Given the description of an element on the screen output the (x, y) to click on. 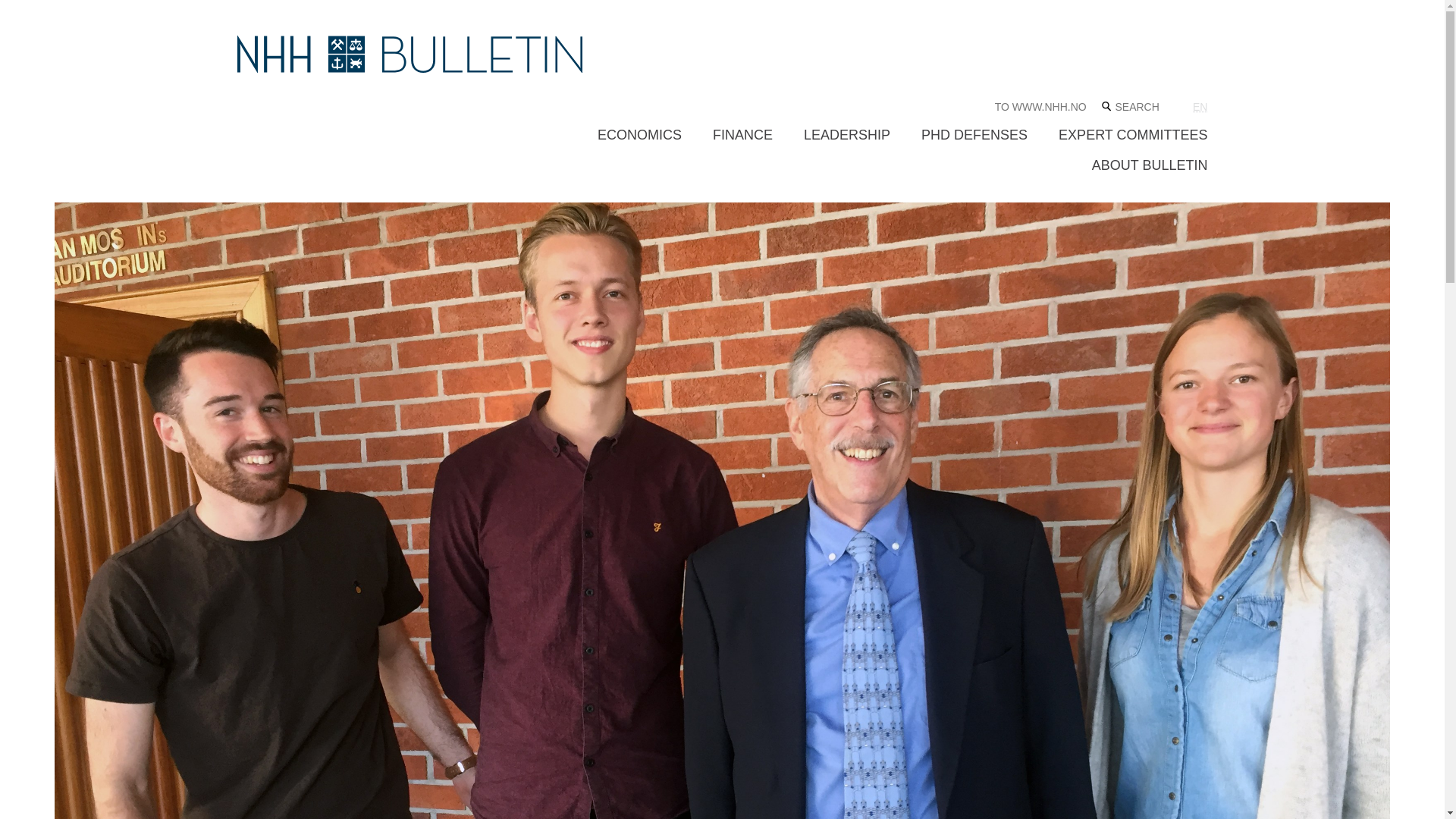
LEADERSHIP (846, 135)
PHD DEFENSES (974, 135)
ECONOMICS (638, 135)
ABOUT BULLETIN (1150, 165)
FINANCE (743, 135)
EN (1199, 106)
EXPERT COMMITTEES (1132, 135)
TO WWW.NHH.NO (1040, 106)
English (1199, 106)
